Given the description of an element on the screen output the (x, y) to click on. 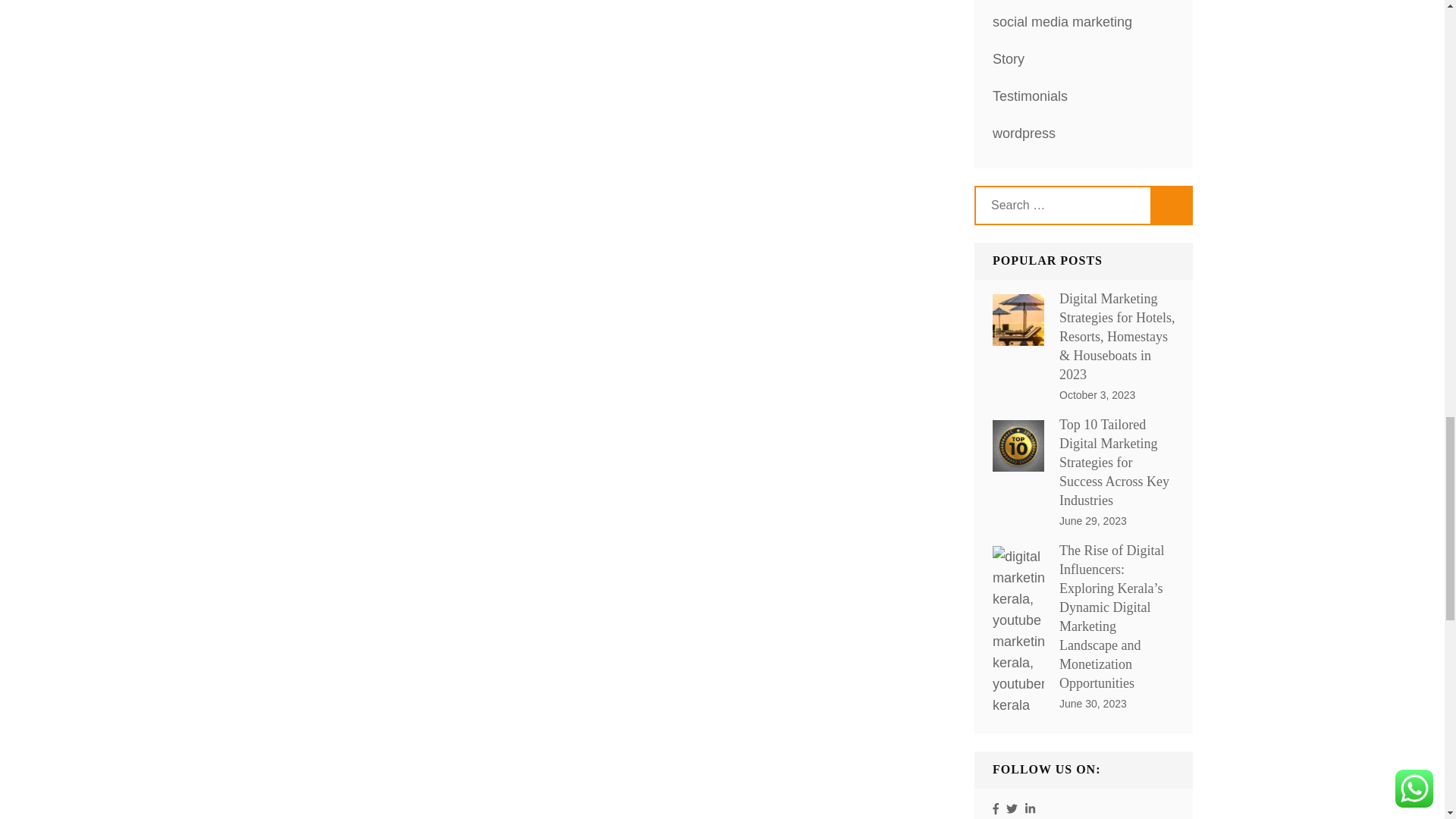
Search (1172, 205)
Search (1172, 205)
